Given the description of an element on the screen output the (x, y) to click on. 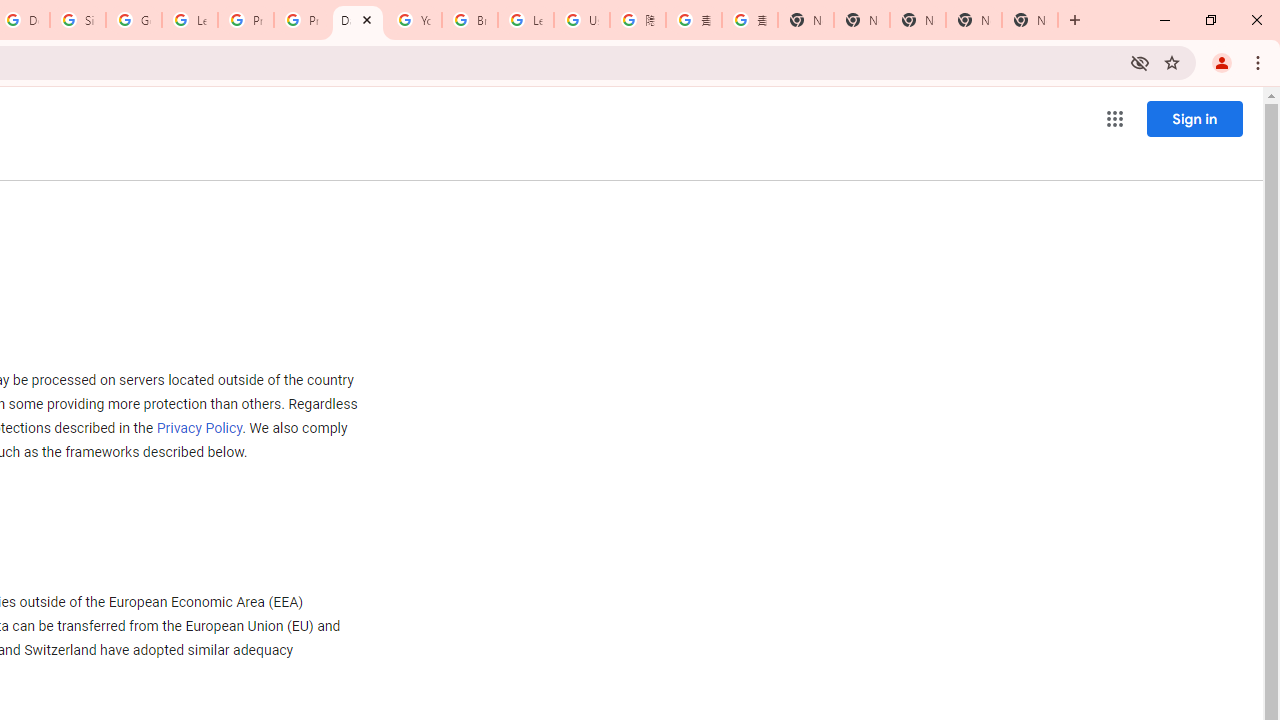
New Tab (1030, 20)
YouTube (413, 20)
Privacy Help Center - Policies Help (301, 20)
